Given the description of an element on the screen output the (x, y) to click on. 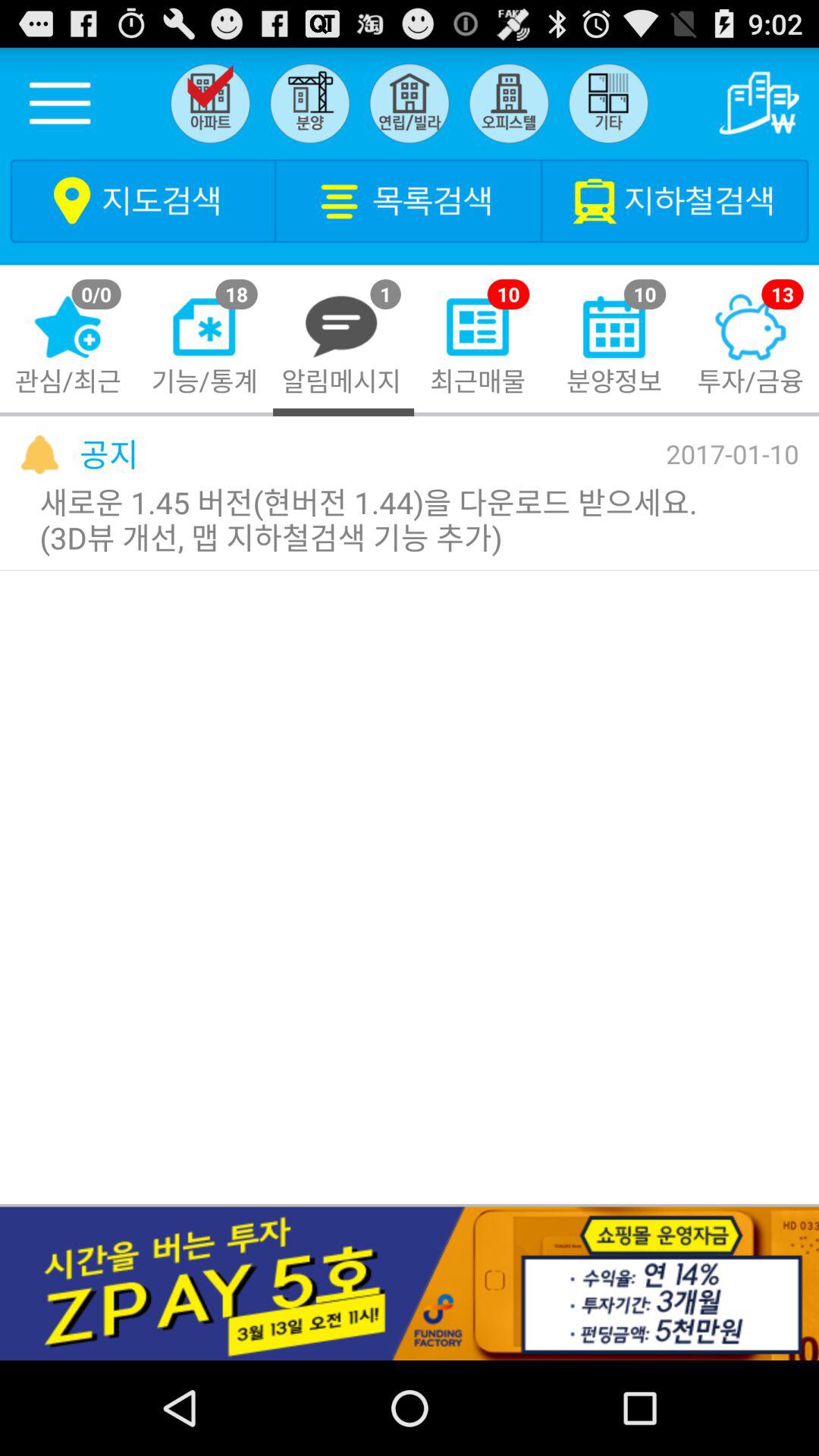
swipe until the 2017-01-10 icon (732, 453)
